Given the description of an element on the screen output the (x, y) to click on. 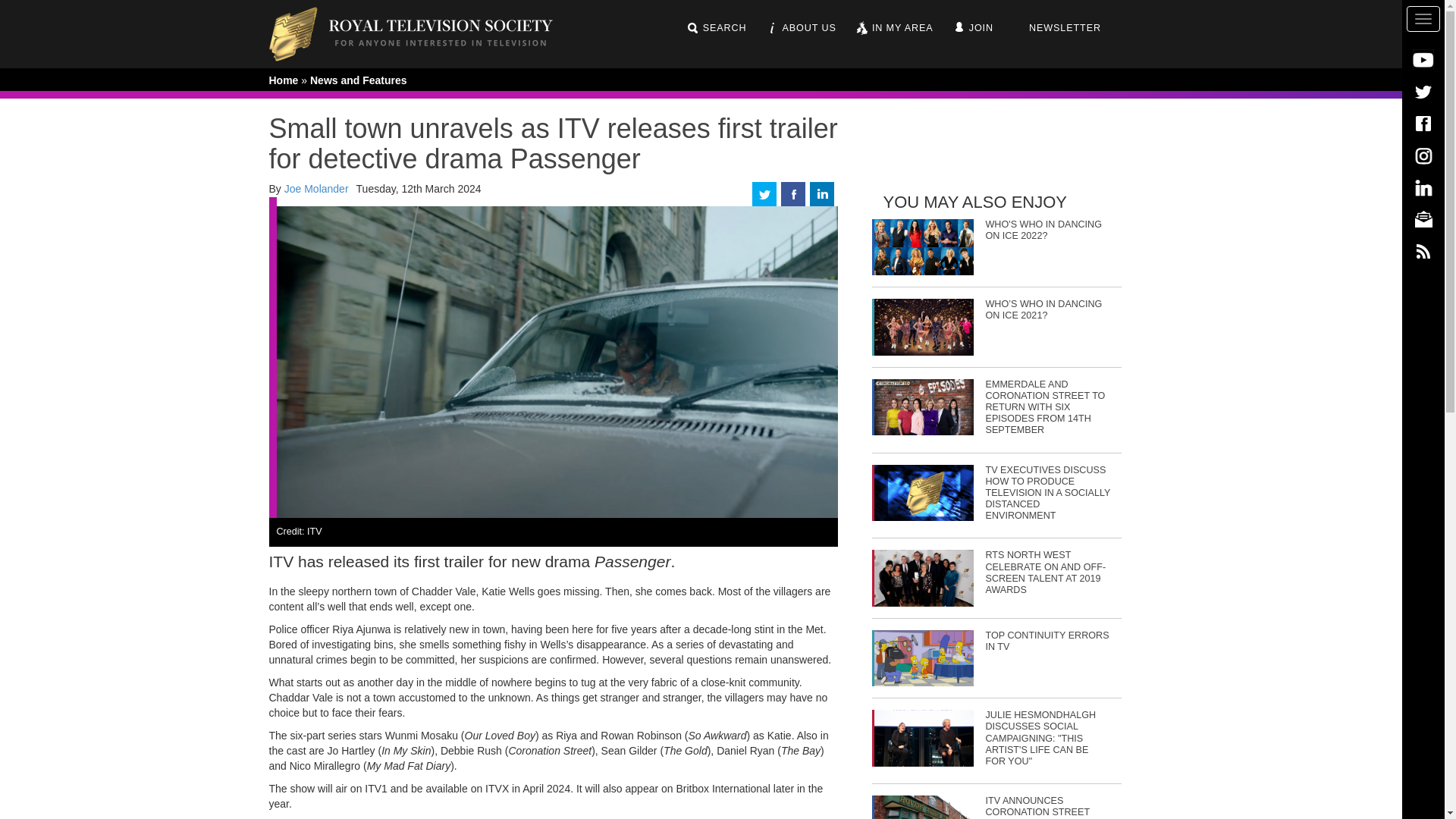
Home (421, 33)
Instagram (1423, 154)
LinkedIn (1423, 186)
Contact Us (1423, 218)
RSS (1423, 250)
YouTube (1423, 59)
NEWSLETTER (1055, 28)
Facebook (1423, 123)
ABOUT US (800, 28)
SEARCH (715, 28)
Tweet this (764, 192)
IN MY AREA (894, 28)
Share on LinkedIn (821, 192)
